Given the description of an element on the screen output the (x, y) to click on. 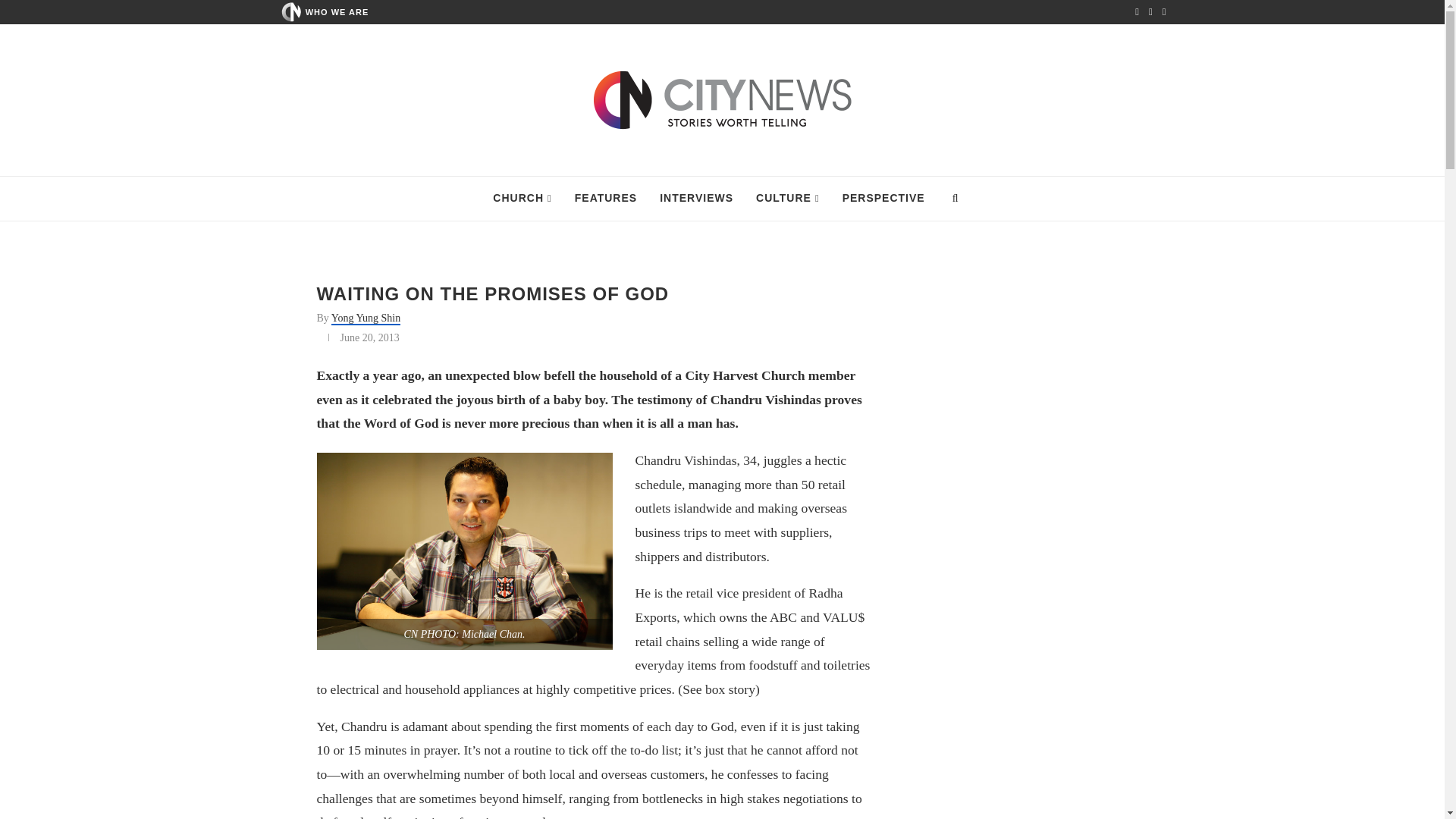
PERSPECTIVE (883, 198)
Posts by Yong Yung Shin (365, 318)
INTERVIEWS (695, 198)
WHO WE ARE (337, 11)
Waiting On The Promises Of God  (464, 551)
FEATURES (605, 198)
CHURCH (521, 198)
Yong Yung Shin (365, 318)
CULTURE (787, 198)
